Given the description of an element on the screen output the (x, y) to click on. 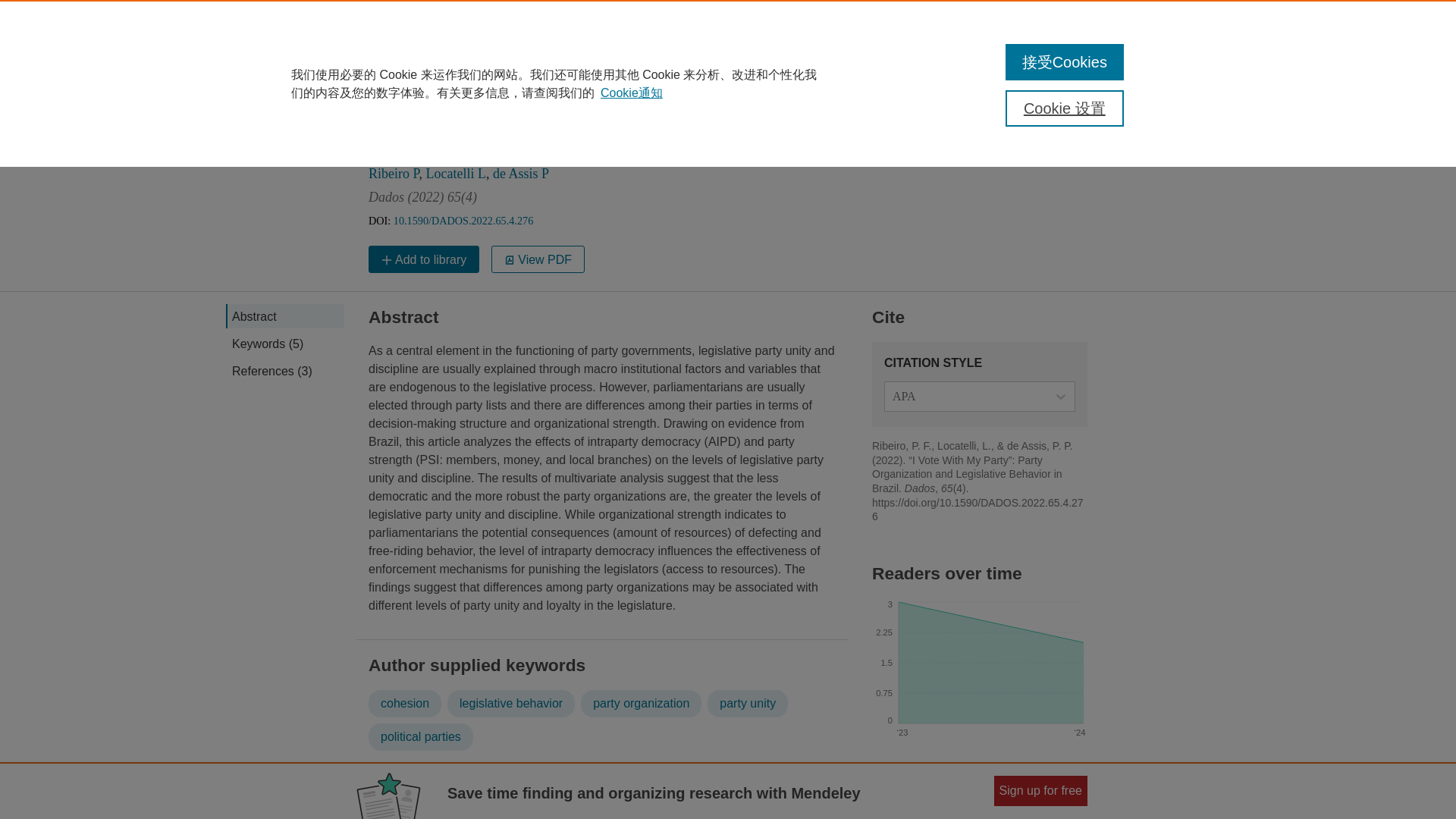
legislative behavior (510, 703)
Abstract (284, 315)
de Assis P (520, 173)
party organization (640, 703)
Sign In (1314, 27)
Create account (1388, 27)
Add to library (423, 258)
View PDF (538, 258)
political parties (420, 737)
